Given the description of an element on the screen output the (x, y) to click on. 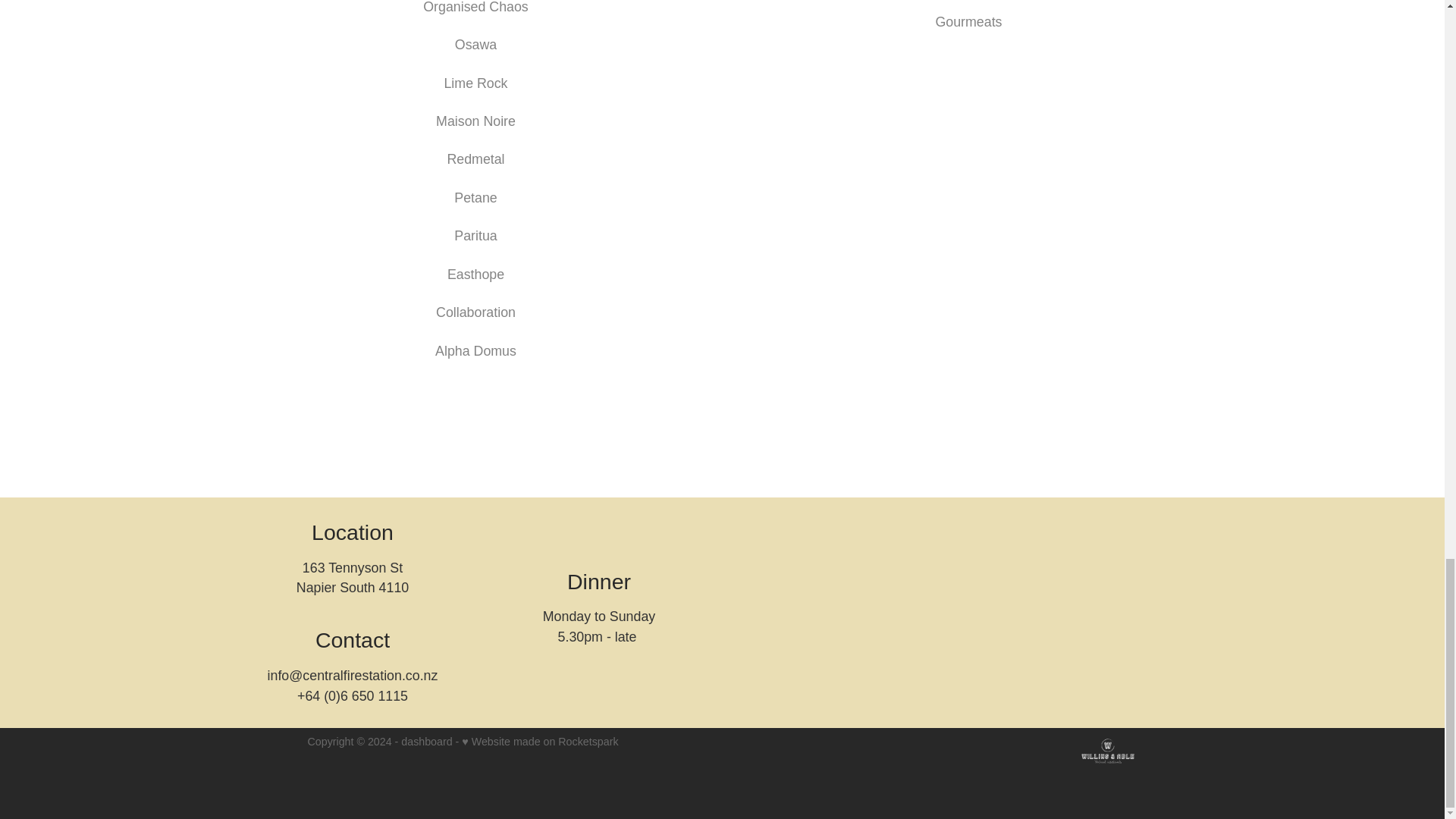
Organised Chaos (475, 7)
Petane (475, 197)
Collaboration (475, 312)
Easthope (474, 273)
Redmetal (474, 159)
Gourmeats (967, 21)
Lime Rock (475, 83)
Maison Noire (475, 120)
Osawa (475, 44)
Paritua (475, 235)
Alpha Domus (475, 350)
